Given the description of an element on the screen output the (x, y) to click on. 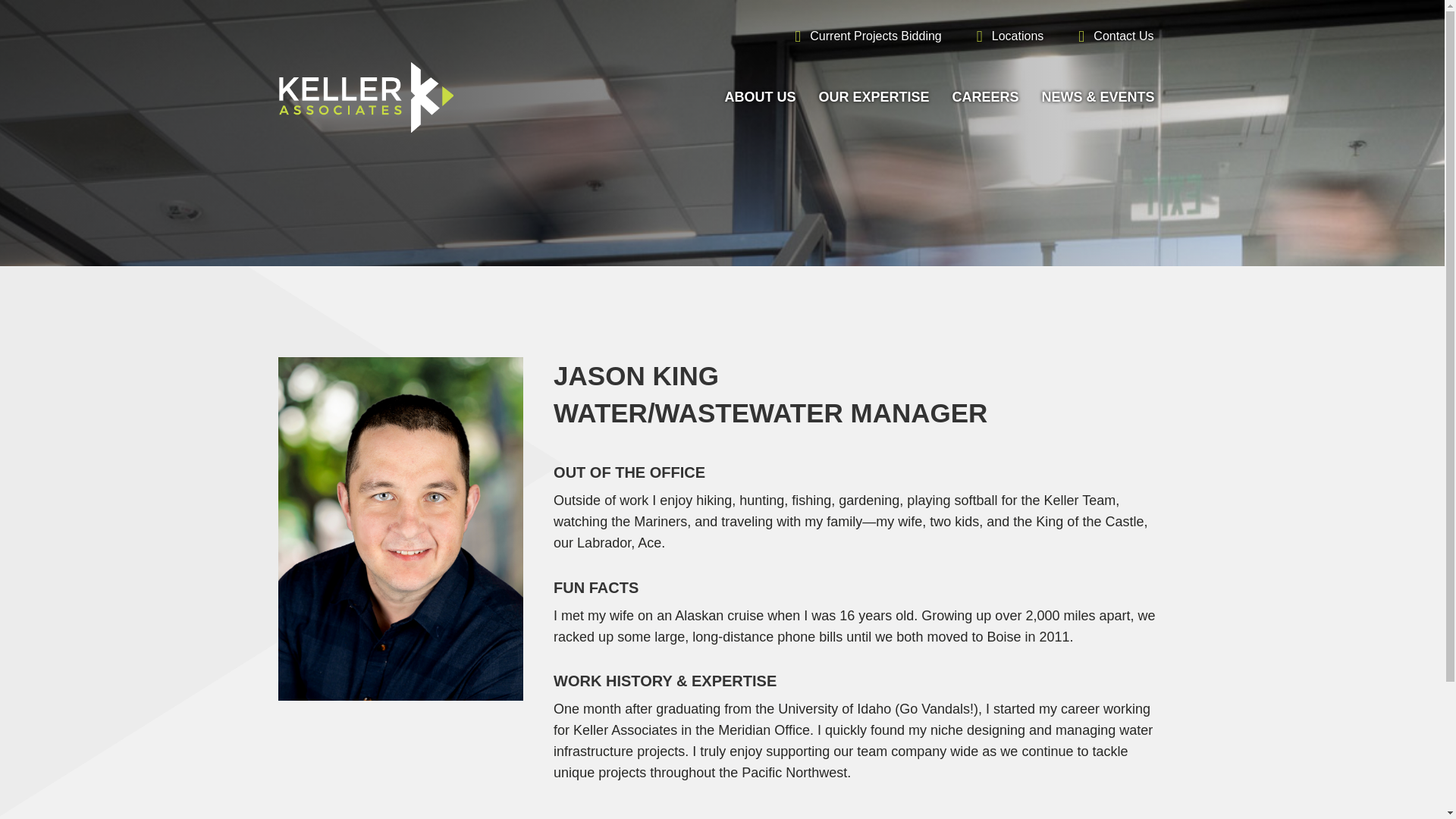
ABOUT US (759, 97)
CAREERS (984, 97)
OUR EXPERTISE (873, 97)
kell-logo-white (365, 97)
Contact Us (1110, 31)
Locations (1005, 31)
Current Projects Bidding (862, 31)
